Given the description of an element on the screen output the (x, y) to click on. 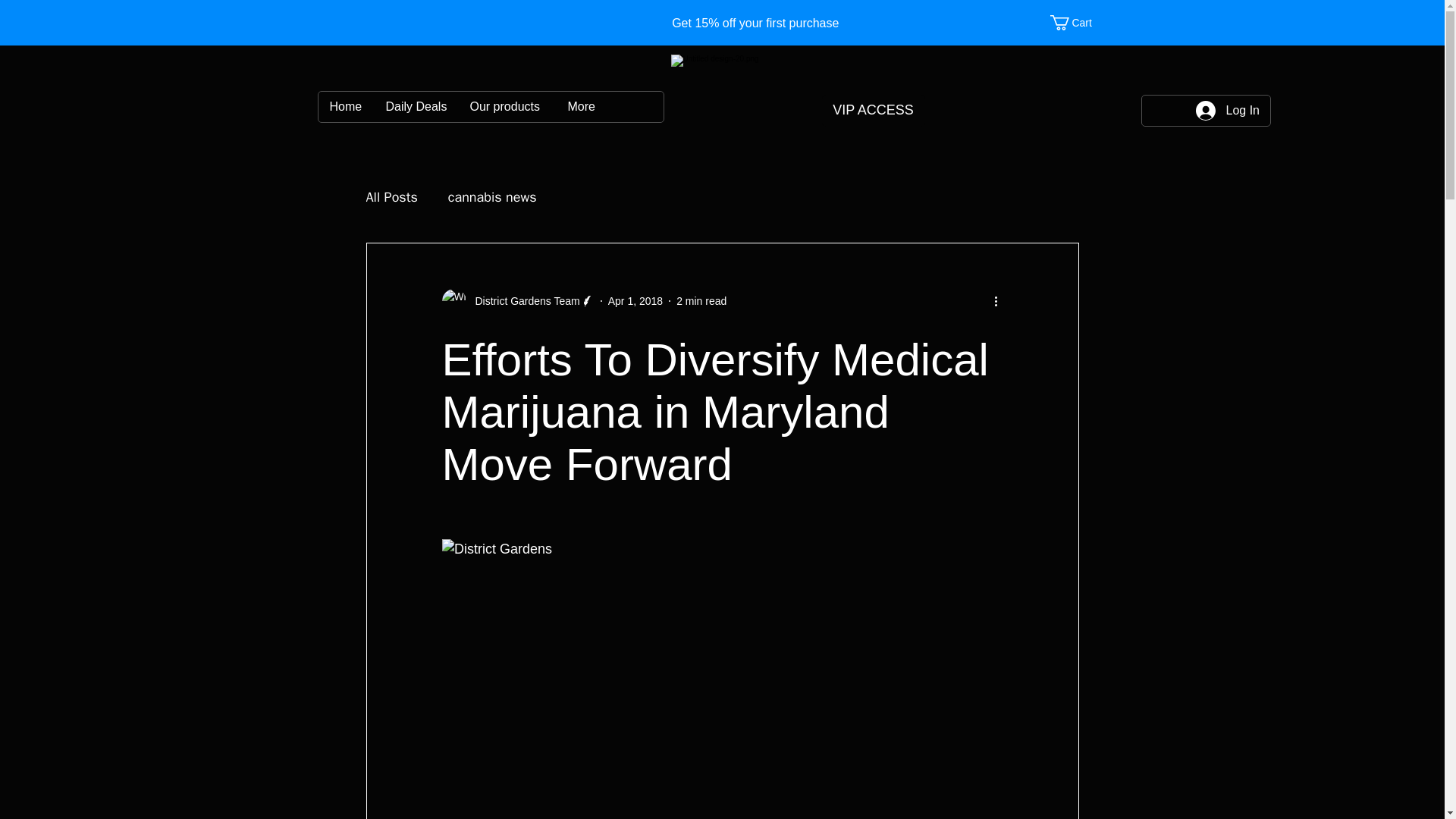
District Gardens Team (517, 300)
VIP ACCESS (873, 110)
All Posts (390, 197)
Daily Deals (414, 106)
Log In (1227, 110)
cannabis news (492, 197)
Cart (1077, 22)
District Gardens Team (522, 300)
Our products (507, 106)
Apr 1, 2018 (635, 300)
